Given the description of an element on the screen output the (x, y) to click on. 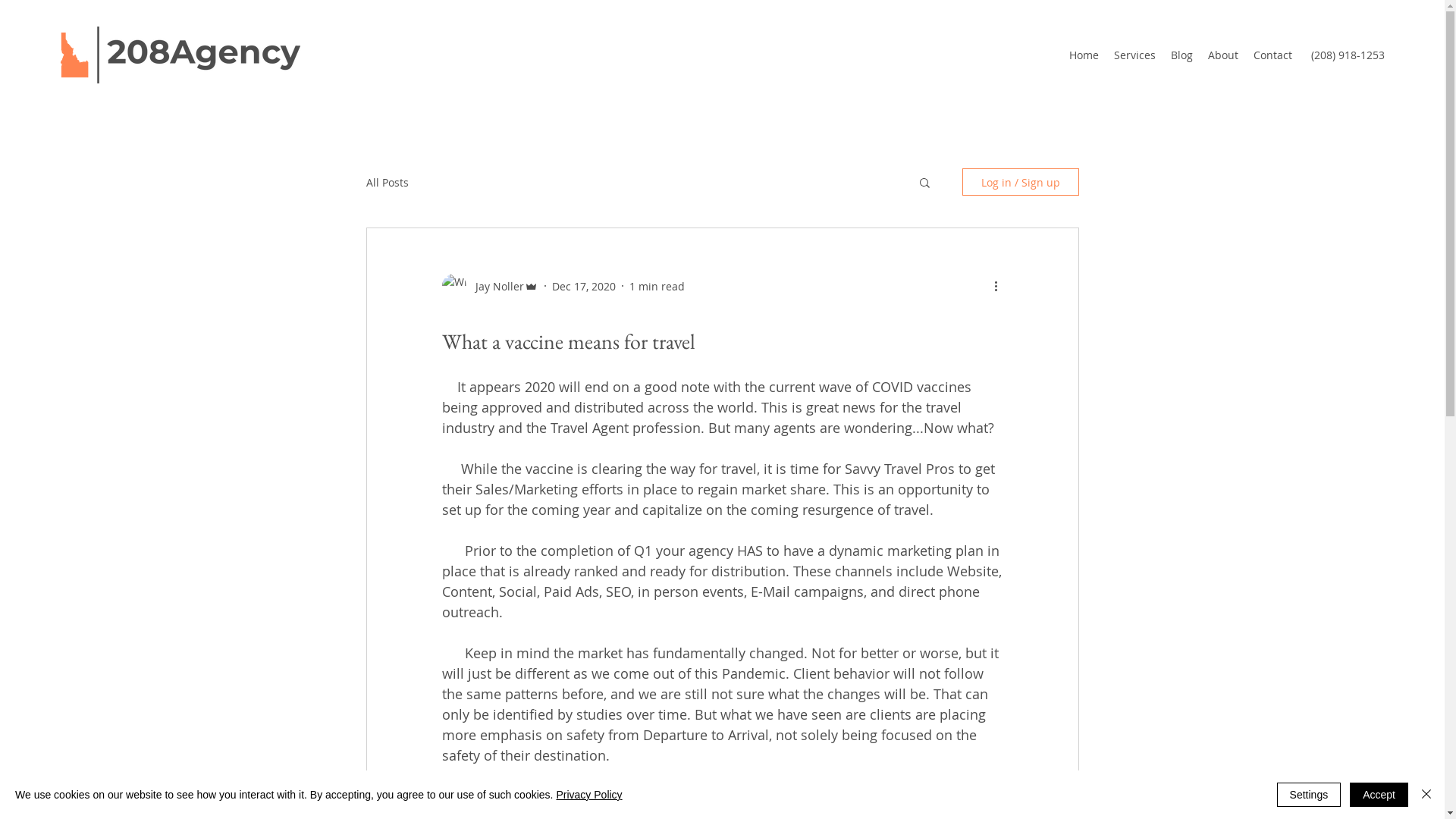
Accept Element type: text (1378, 794)
Home Element type: text (1083, 54)
Log in / Sign up Element type: text (1019, 181)
Contact Element type: text (1272, 54)
Settings Element type: text (1309, 794)
Blog Element type: text (1181, 54)
About Element type: text (1222, 54)
Services Element type: text (1134, 54)
Privacy Policy Element type: text (588, 794)
All Posts Element type: text (386, 181)
